Given the description of an element on the screen output the (x, y) to click on. 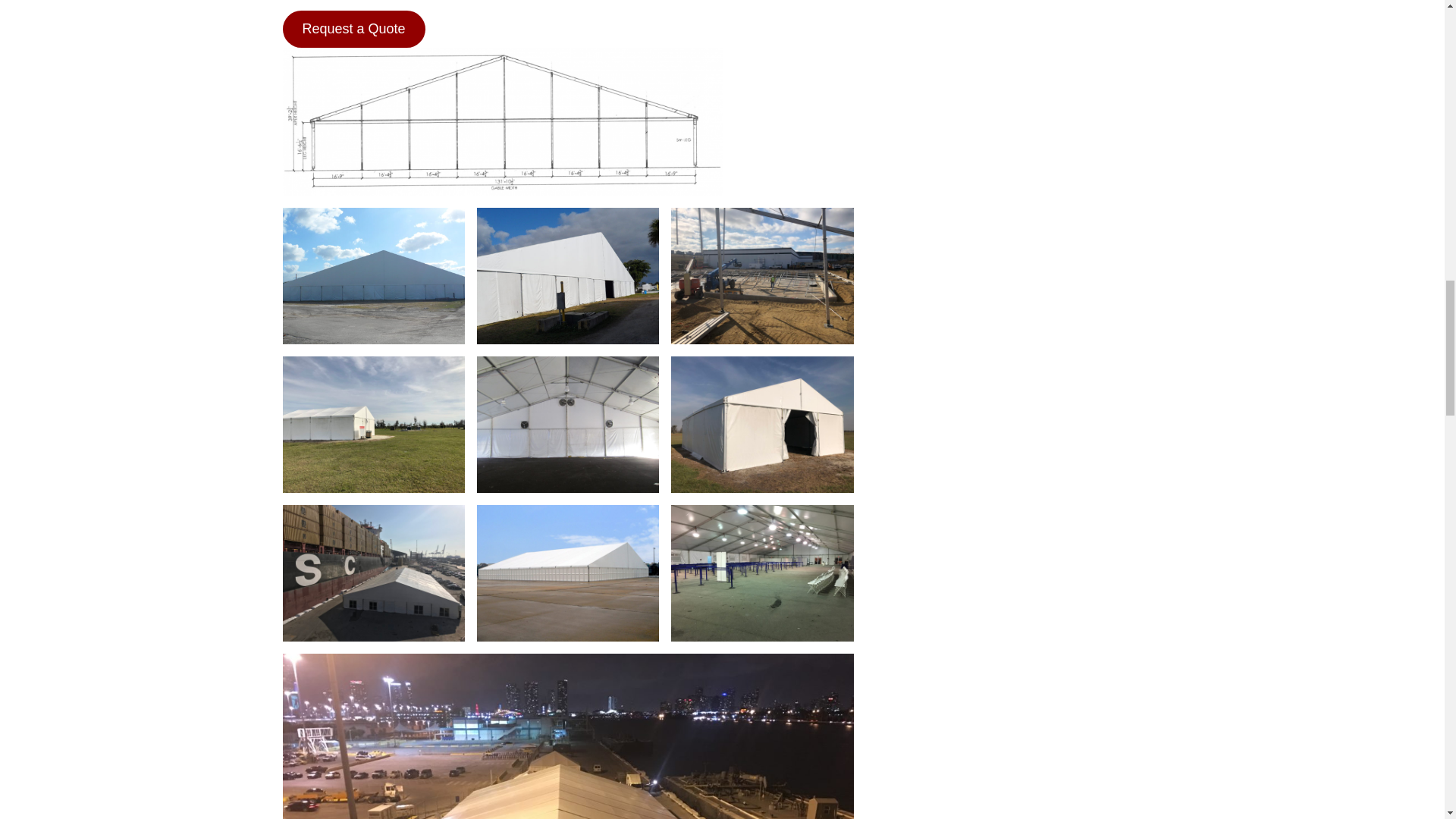
Request a Quote (353, 28)
